Given the description of an element on the screen output the (x, y) to click on. 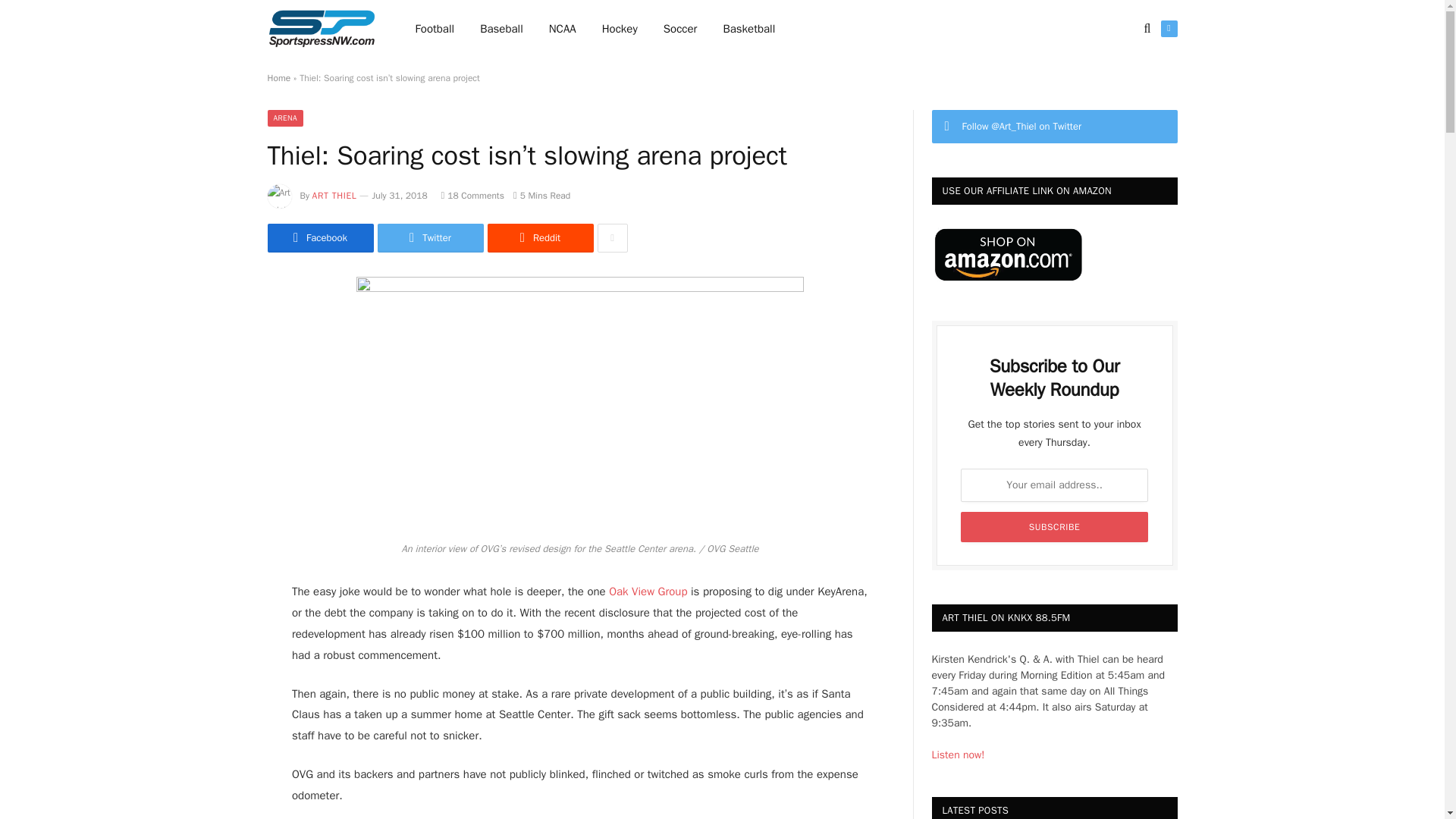
Basketball (748, 28)
Posts by Art Thiel (334, 195)
Home (277, 78)
Share on Reddit (539, 237)
Share on Twitter (430, 237)
Twitter (1168, 28)
Reddit (539, 237)
NCAA (562, 28)
Facebook (319, 237)
Sportspress Northwest (320, 28)
ART THIEL (334, 195)
Baseball (501, 28)
Subscribe (1053, 526)
Football (435, 28)
Soccer (680, 28)
